Given the description of an element on the screen output the (x, y) to click on. 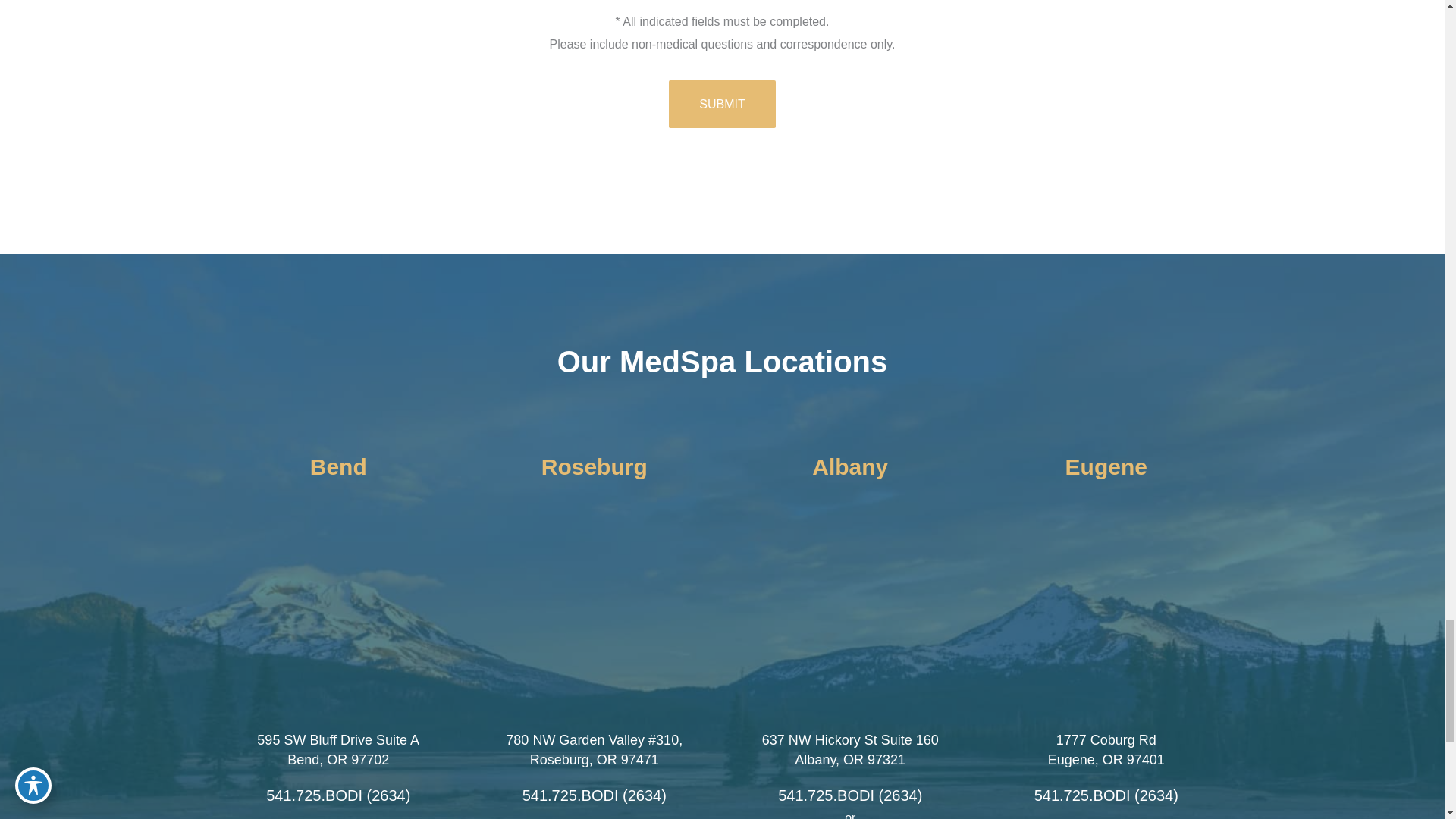
Map Location (338, 603)
Submit (721, 103)
Map Location (1106, 603)
Map Location (594, 603)
Map Location (849, 603)
